Given the description of an element on the screen output the (x, y) to click on. 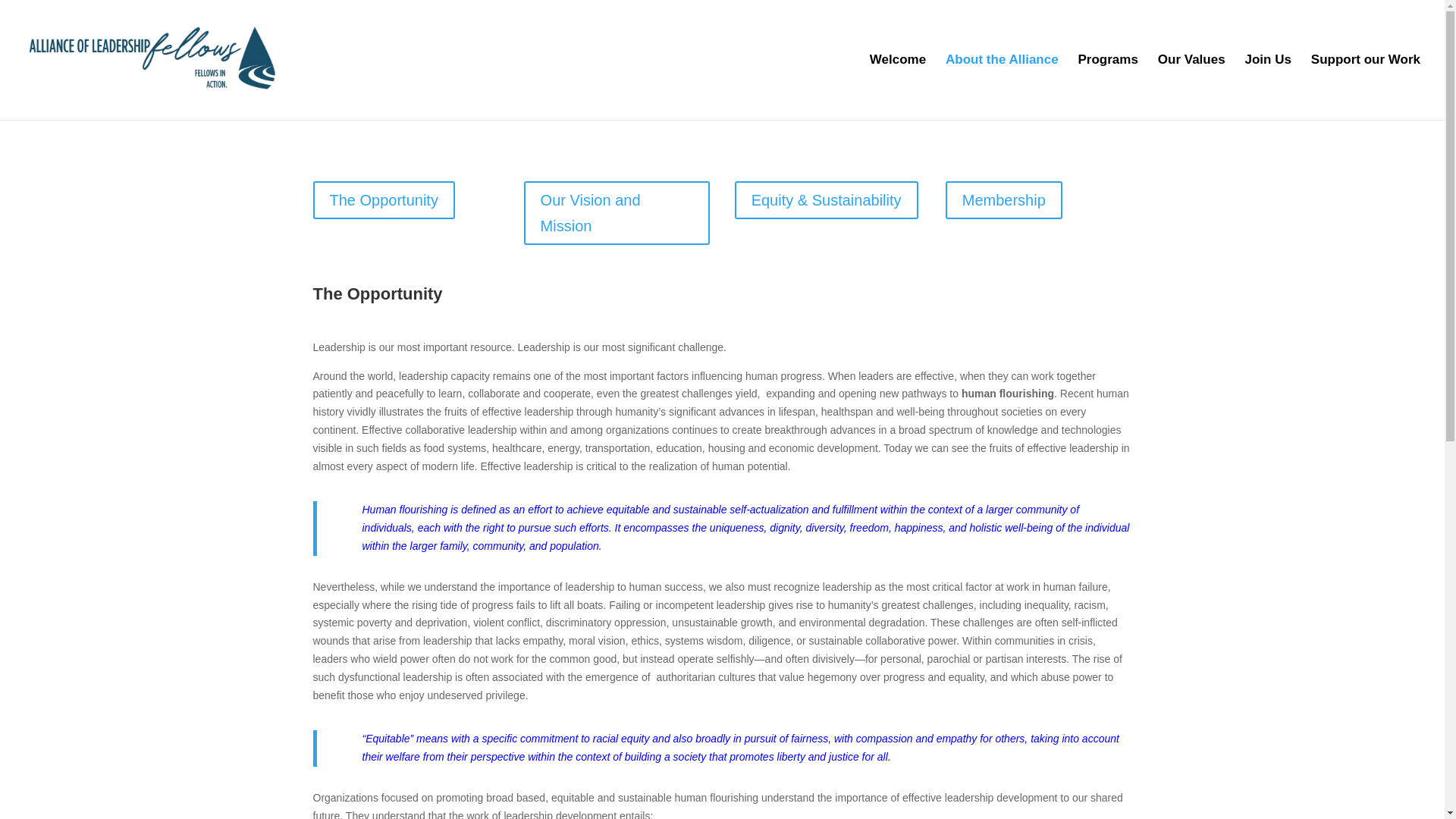
Programs (1108, 86)
Support our Work (1366, 86)
Our Values (1191, 86)
Our Vision and Mission (617, 212)
Membership (1003, 199)
About the Alliance (1001, 86)
The Opportunity (383, 199)
